Given the description of an element on the screen output the (x, y) to click on. 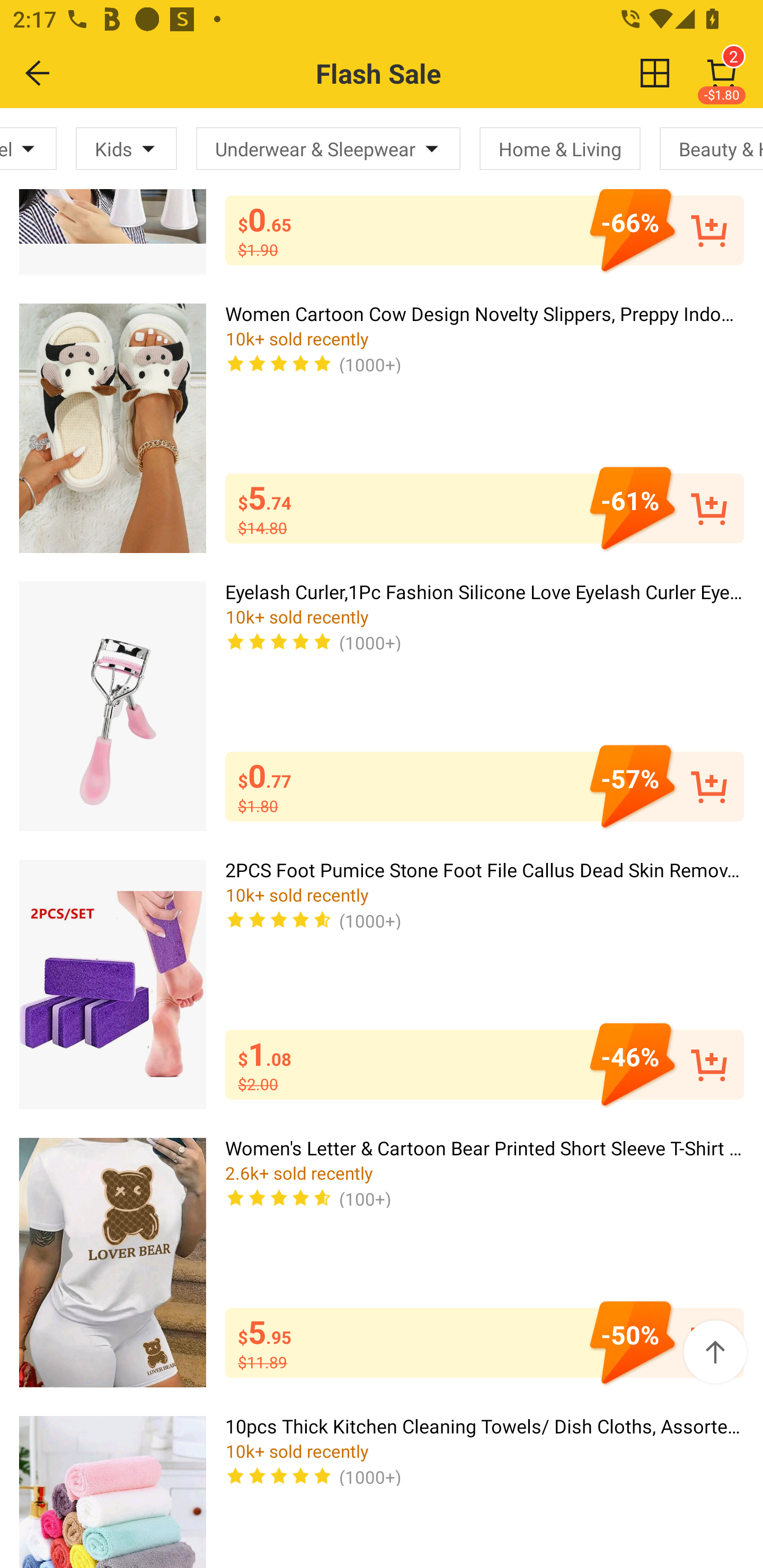
Flash Sale change view 2 -$1.80 (419, 72)
2 -$1.80 (721, 72)
change view (654, 72)
BACK (38, 72)
Men Apparel (28, 148)
Kids (126, 148)
Underwear & Sleepwear (328, 148)
Home & Living (559, 148)
Back to top (714, 1351)
